Given the description of an element on the screen output the (x, y) to click on. 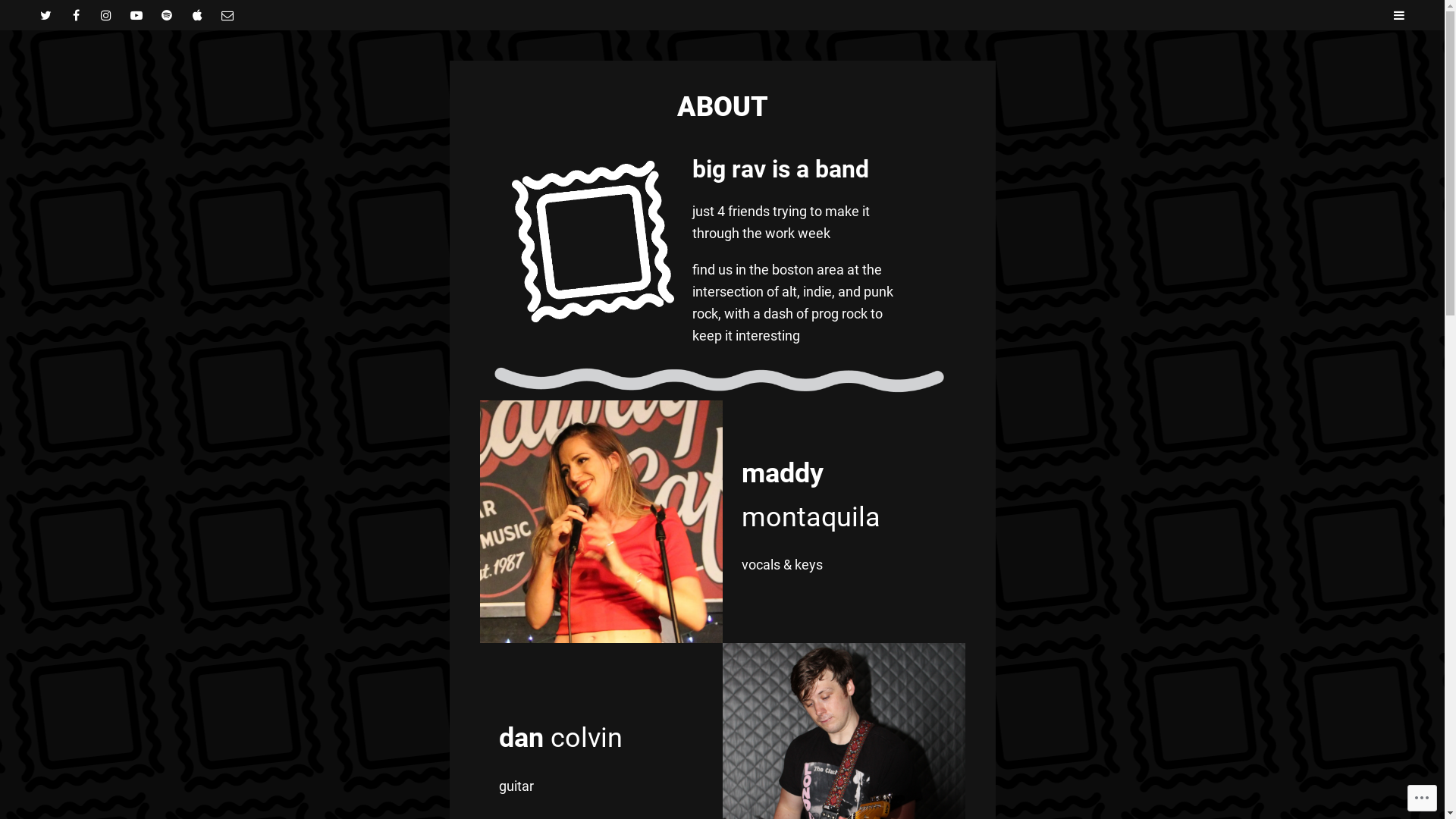
Twitter Element type: hover (45, 15)
iTunes Element type: hover (197, 15)
Spotify Element type: hover (166, 15)
YouTube Element type: hover (136, 15)
Facebook Element type: hover (75, 15)
BIG RAV Element type: text (748, 92)
Instagram Element type: hover (106, 15)
Email Element type: hover (227, 15)
